Given the description of an element on the screen output the (x, y) to click on. 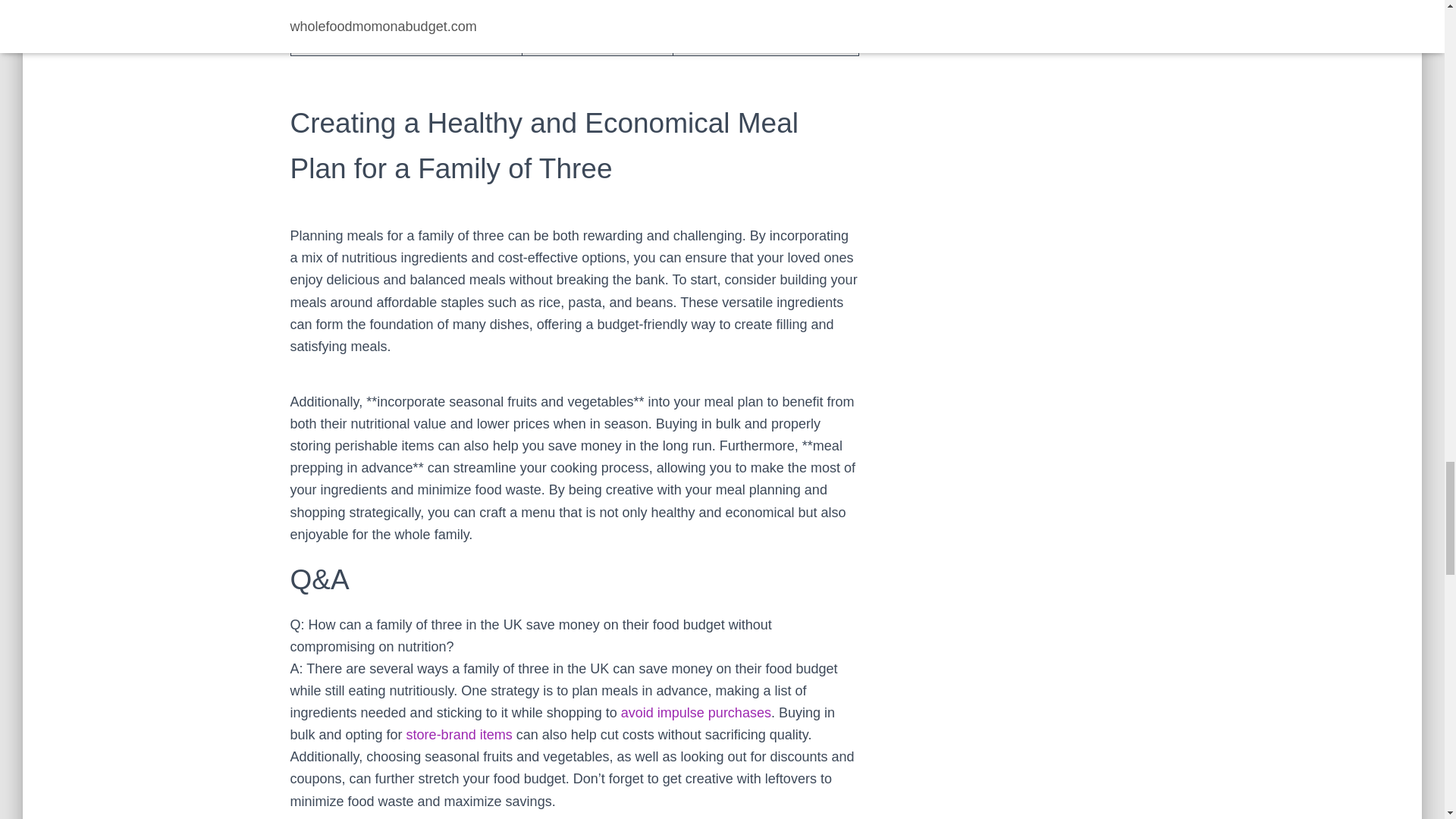
store-brand items (459, 734)
budget food options (459, 734)
avoid impulse purchases (696, 712)
food budget for 5 people (696, 712)
